Given the description of an element on the screen output the (x, y) to click on. 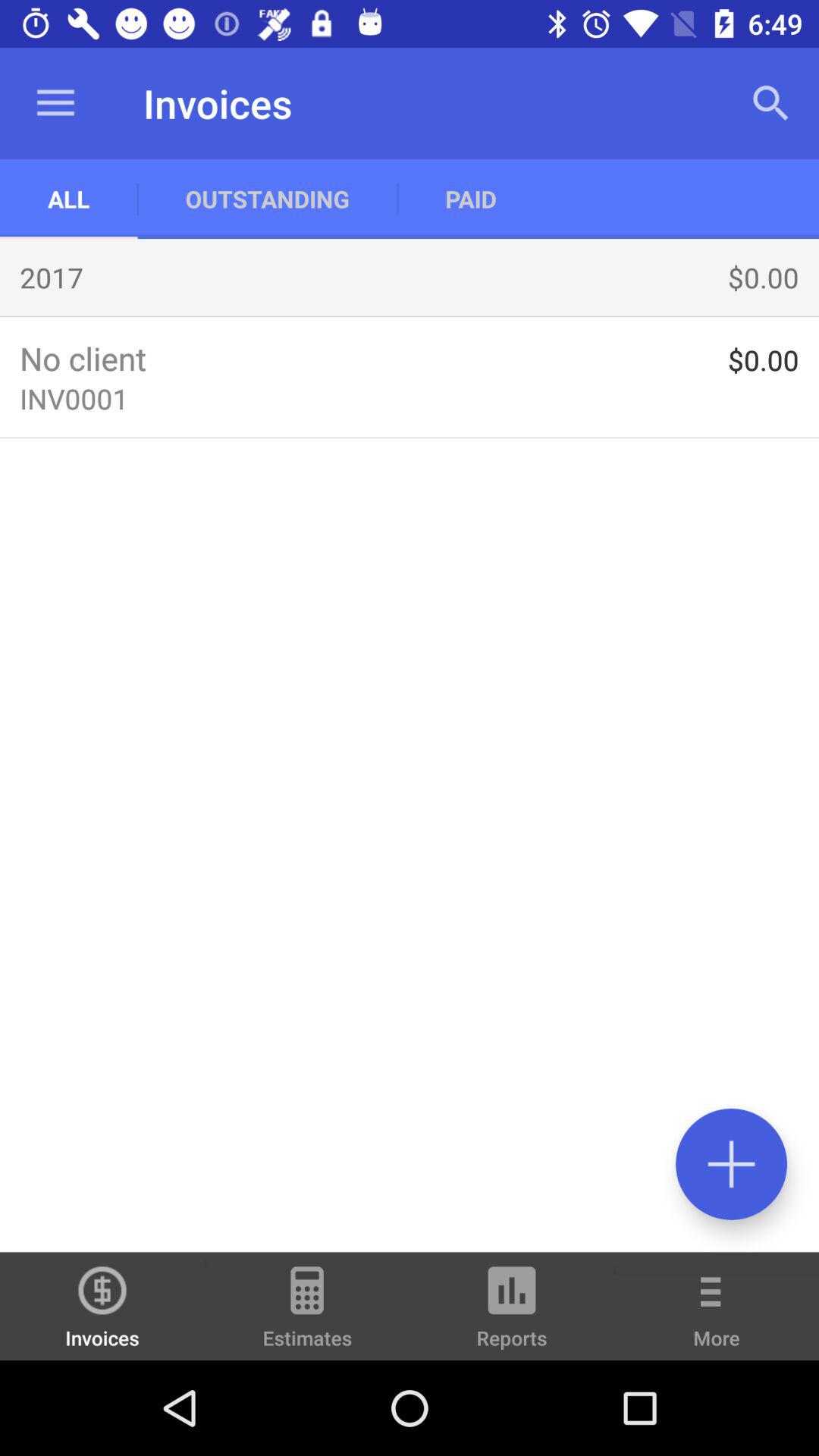
select the icon to the left of the reports icon (306, 1313)
